Given the description of an element on the screen output the (x, y) to click on. 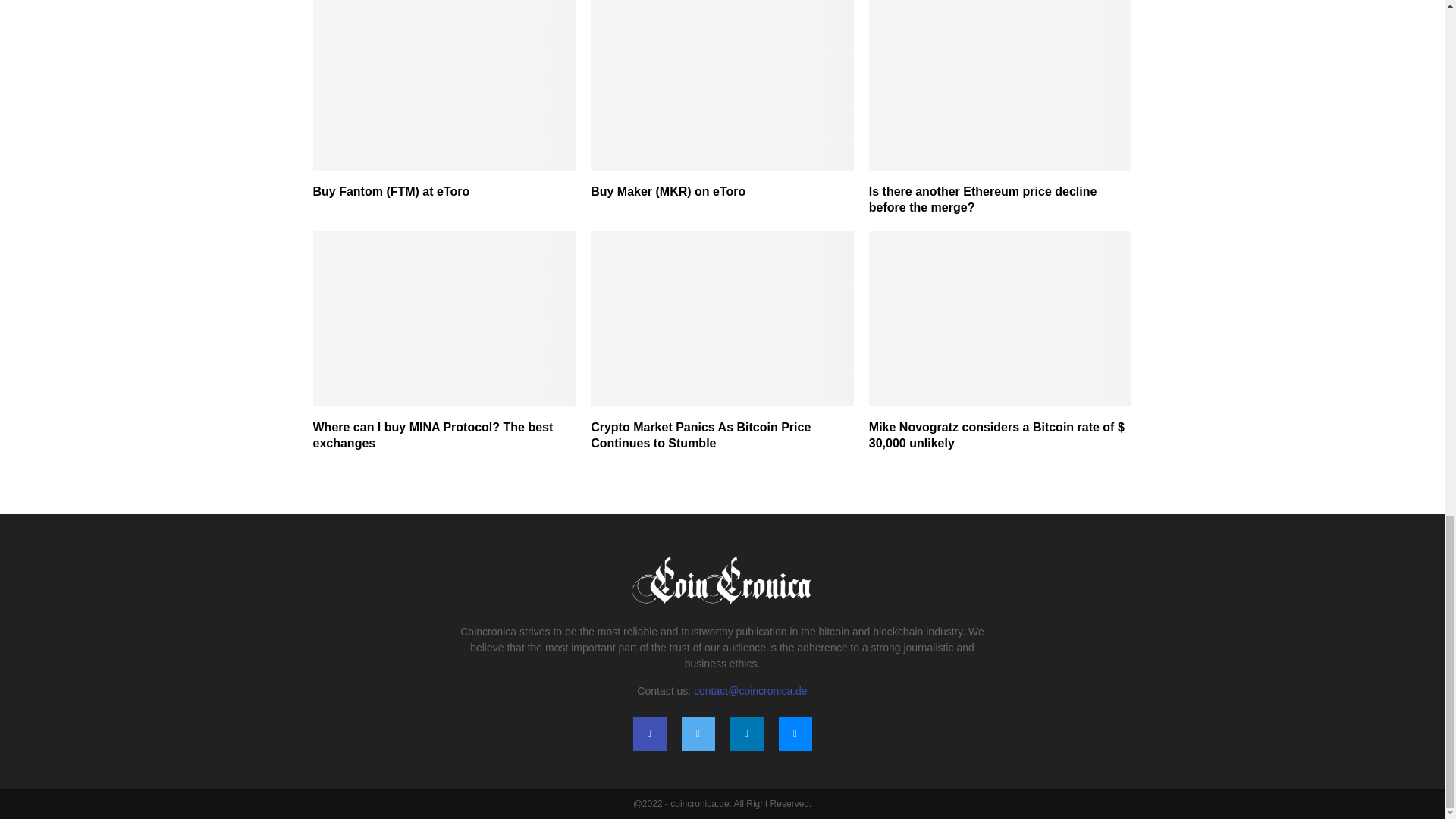
Facebook (648, 734)
